Given the description of an element on the screen output the (x, y) to click on. 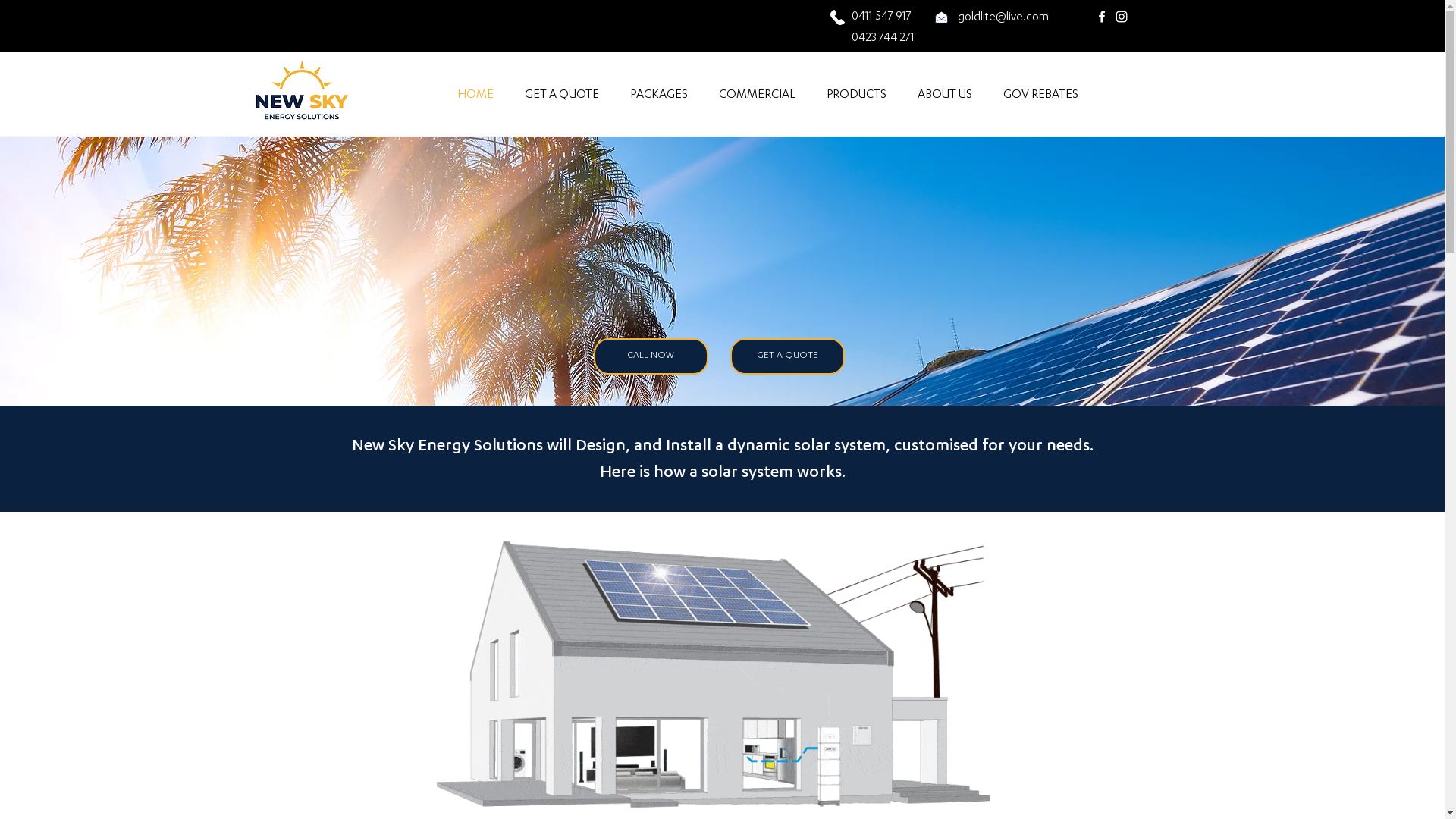
ABOUT US Element type: text (945, 93)
PACKAGES Element type: text (658, 93)
GET A QUOTE Element type: text (786, 356)
CALL NOW Element type: text (650, 356)
GOV REBATES Element type: text (1040, 93)
0411 547 917 Element type: text (880, 15)
COMMERCIAL Element type: text (757, 93)
HOME Element type: text (474, 93)
goldlite@live.com Element type: text (1002, 17)
GET A QUOTE Element type: text (562, 93)
PRODUCTS Element type: text (856, 93)
